Given the description of an element on the screen output the (x, y) to click on. 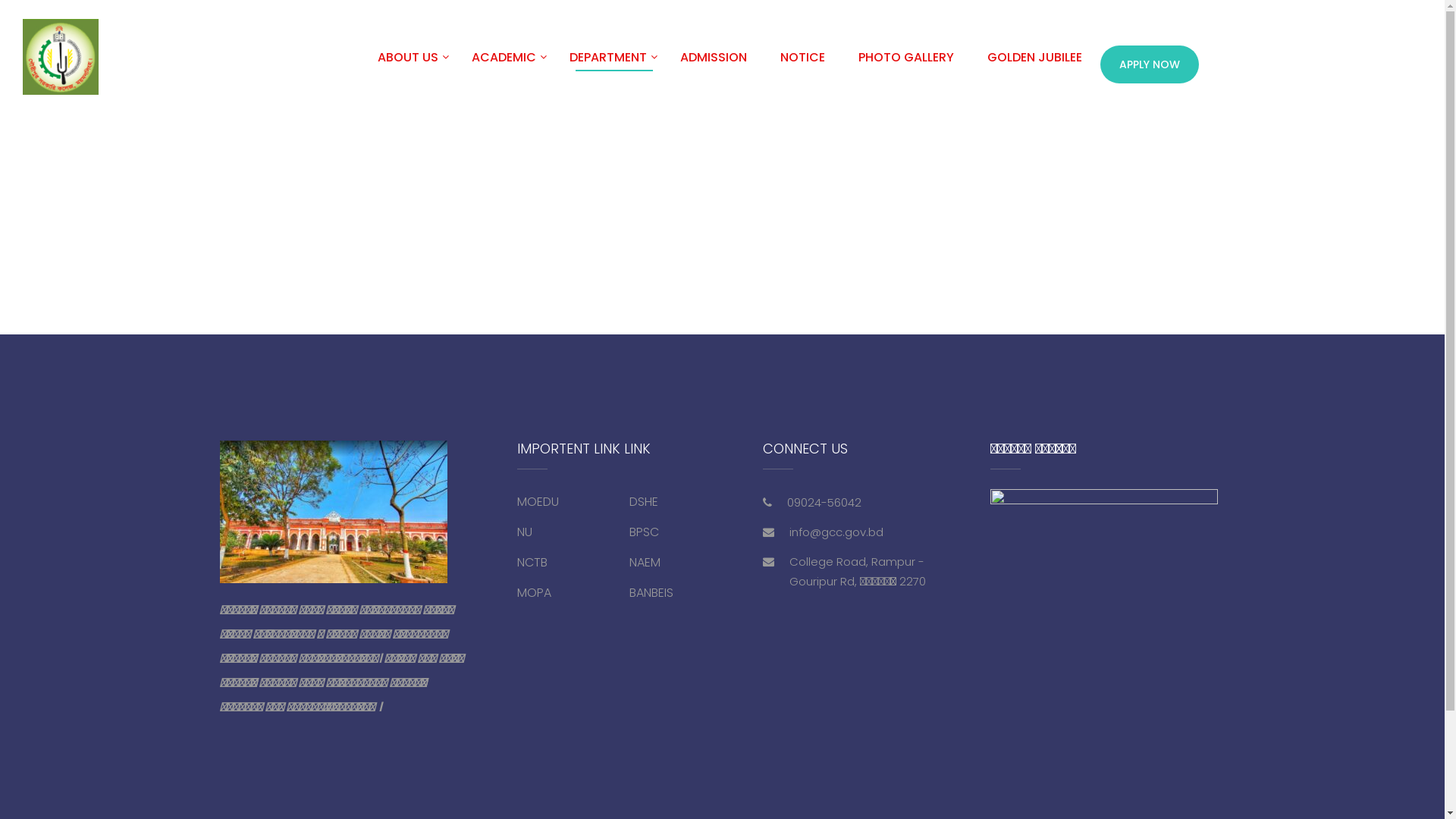
ADMISSION Element type: text (713, 64)
NU Element type: text (524, 531)
BANBEIS Element type: text (651, 592)
PHOTO GALLERY Element type: text (906, 64)
DEPARTMENT Element type: text (608, 64)
GOLDEN JUBILEE Element type: text (1034, 64)
MOEDU Element type: text (537, 501)
BPSC Element type: text (643, 531)
NCTB Element type: text (532, 562)
NAEM Element type: text (644, 562)
ABOUT US Element type: text (407, 64)
APPLY NOW Element type: text (1149, 64)
09024-56042 Element type: text (824, 502)
ACADEMIC Element type: text (503, 64)
info@gcc.gov.bd Element type: text (836, 531)
MOPA Element type: text (534, 592)
DSHE Element type: text (643, 501)
NOTICE Element type: text (802, 64)
